Given the description of an element on the screen output the (x, y) to click on. 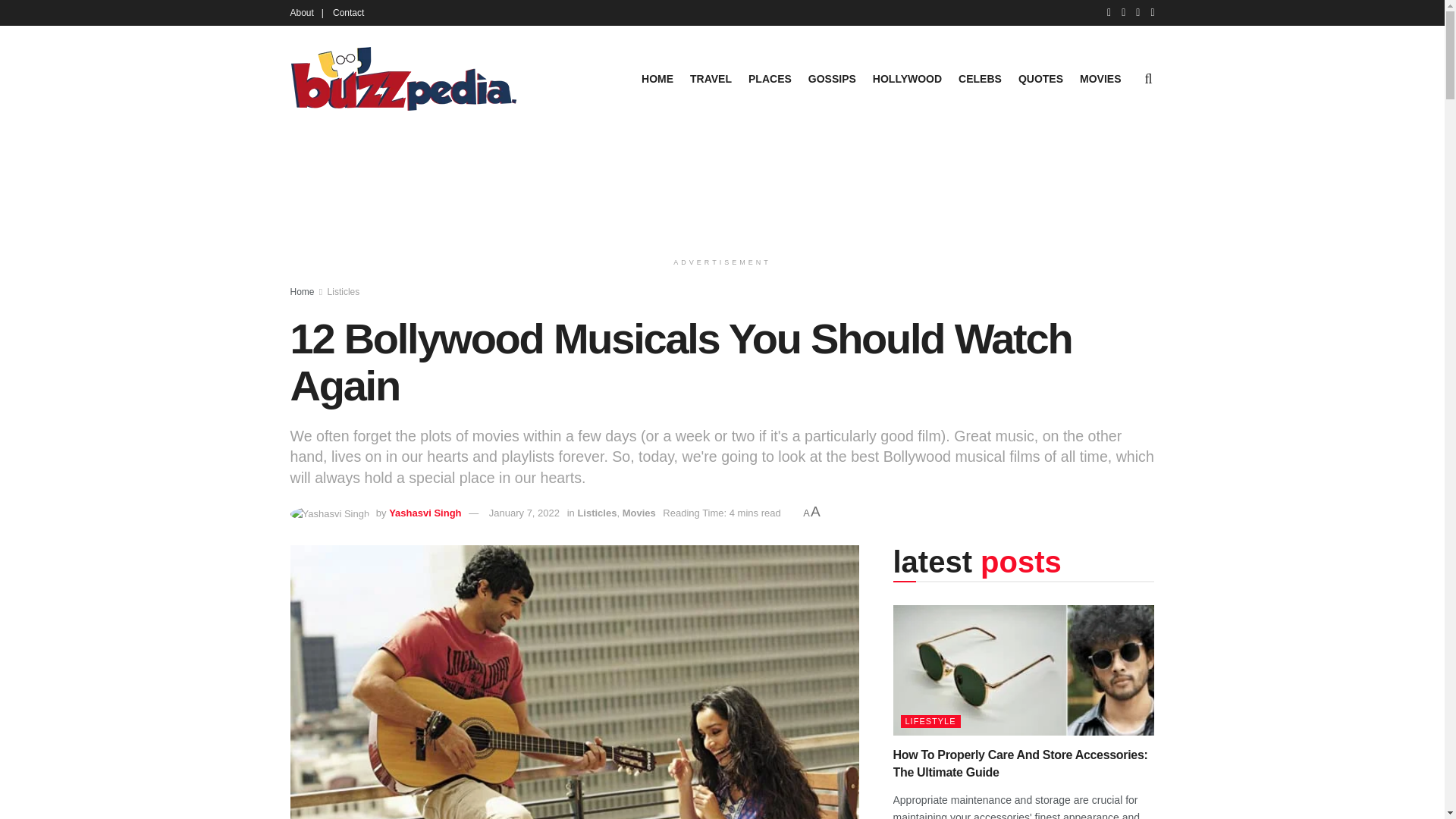
Contact (348, 12)
Movies (639, 512)
HOLLYWOOD (907, 78)
MOVIES (1100, 78)
CELEBS (979, 78)
Listicles (343, 291)
GOSSIPS (832, 78)
January 7, 2022 (524, 512)
PLACES (770, 78)
Listicles (595, 512)
HOME (657, 78)
Yashasvi Singh (424, 512)
QUOTES (1039, 78)
Home (301, 291)
Advertisement (722, 188)
